Given the description of an element on the screen output the (x, y) to click on. 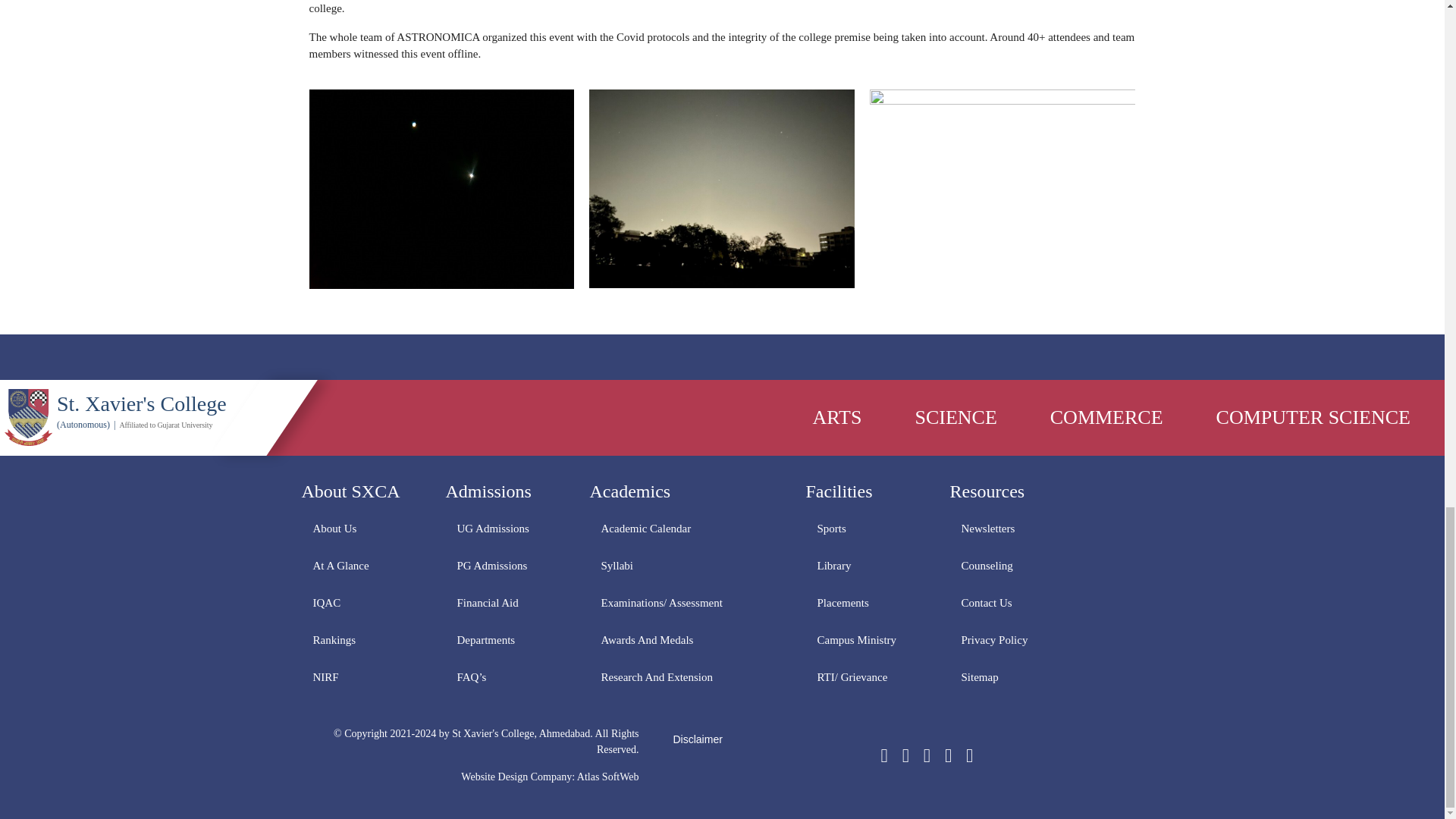
ARTS (837, 417)
Departments (506, 639)
PG Admissions (506, 565)
NIRF (362, 676)
UG Admissions (506, 528)
At A Glance (362, 565)
About Us (362, 528)
IQAC (362, 601)
COMPUTER SCIENCE (1313, 417)
Financial Aid (506, 601)
